Given the description of an element on the screen output the (x, y) to click on. 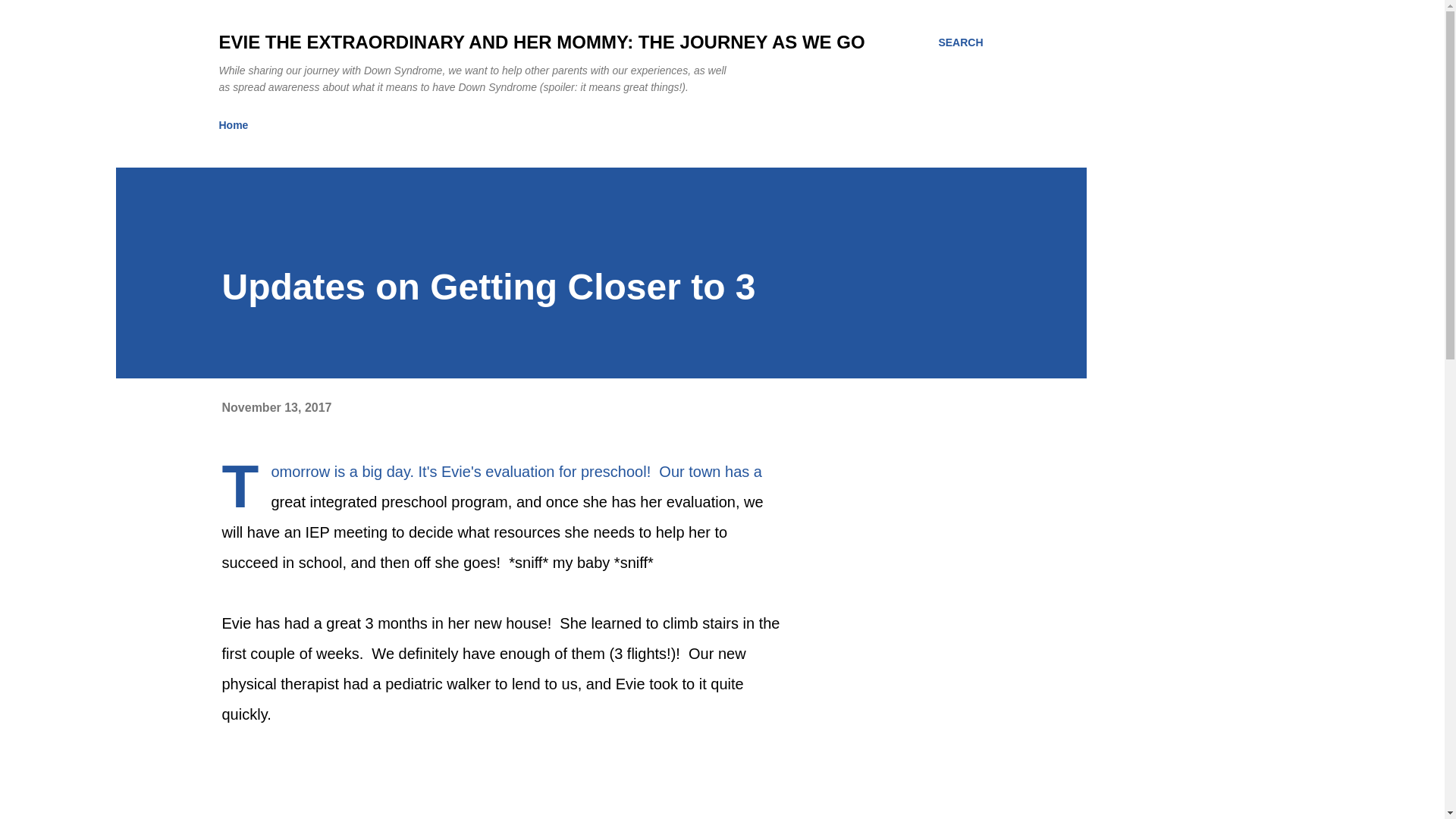
Home (237, 124)
EVIE THE EXTRAORDINARY AND HER MOMMY: THE JOURNEY AS WE GO (541, 41)
SEARCH (959, 42)
November 13, 2017 (276, 407)
permanent link (276, 407)
